Given the description of an element on the screen output the (x, y) to click on. 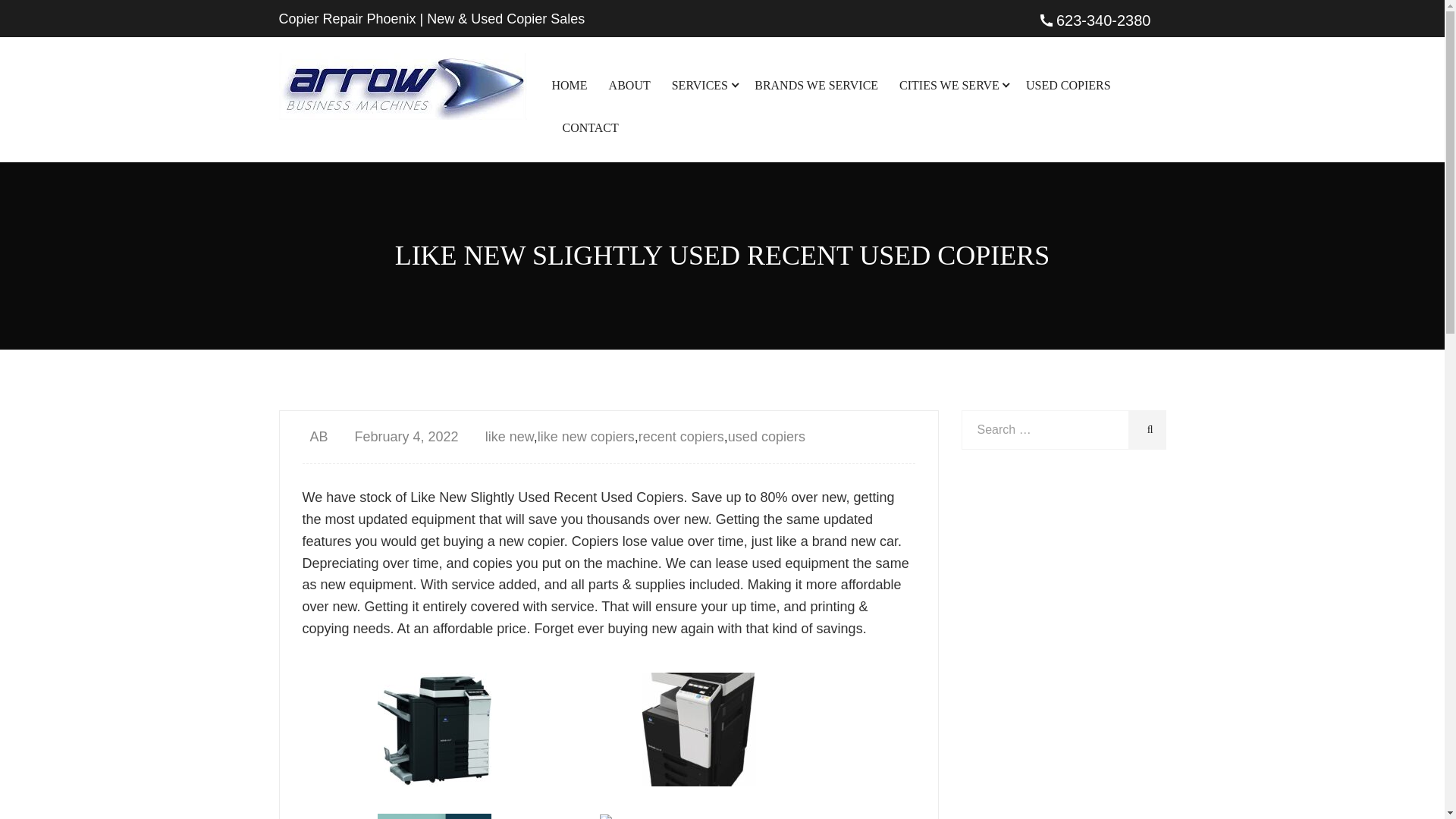
CITIES WE SERVE (951, 85)
ABOUT (629, 85)
OTHER SERVICES (789, 291)
COPIER REPAIR AVONDALE (1016, 160)
COPIER REPAIR SCOTTSDALE (1016, 208)
AB (314, 436)
like new (509, 436)
used copiers (766, 436)
USED COPIERS (1068, 85)
HOME (569, 85)
